Given the description of an element on the screen output the (x, y) to click on. 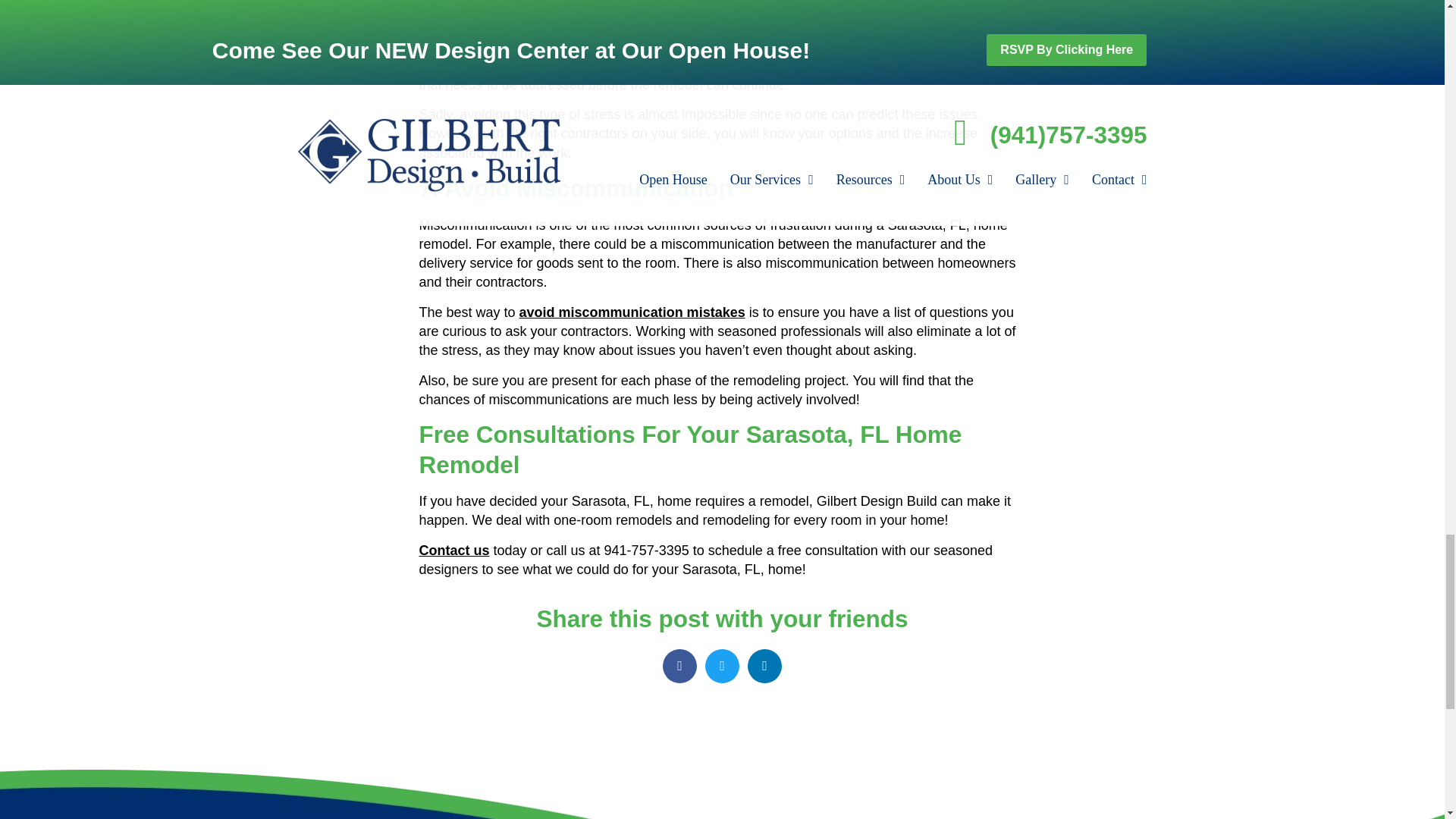
Contact us (454, 549)
avoid miscommunication mistakes (632, 312)
